Given the description of an element on the screen output the (x, y) to click on. 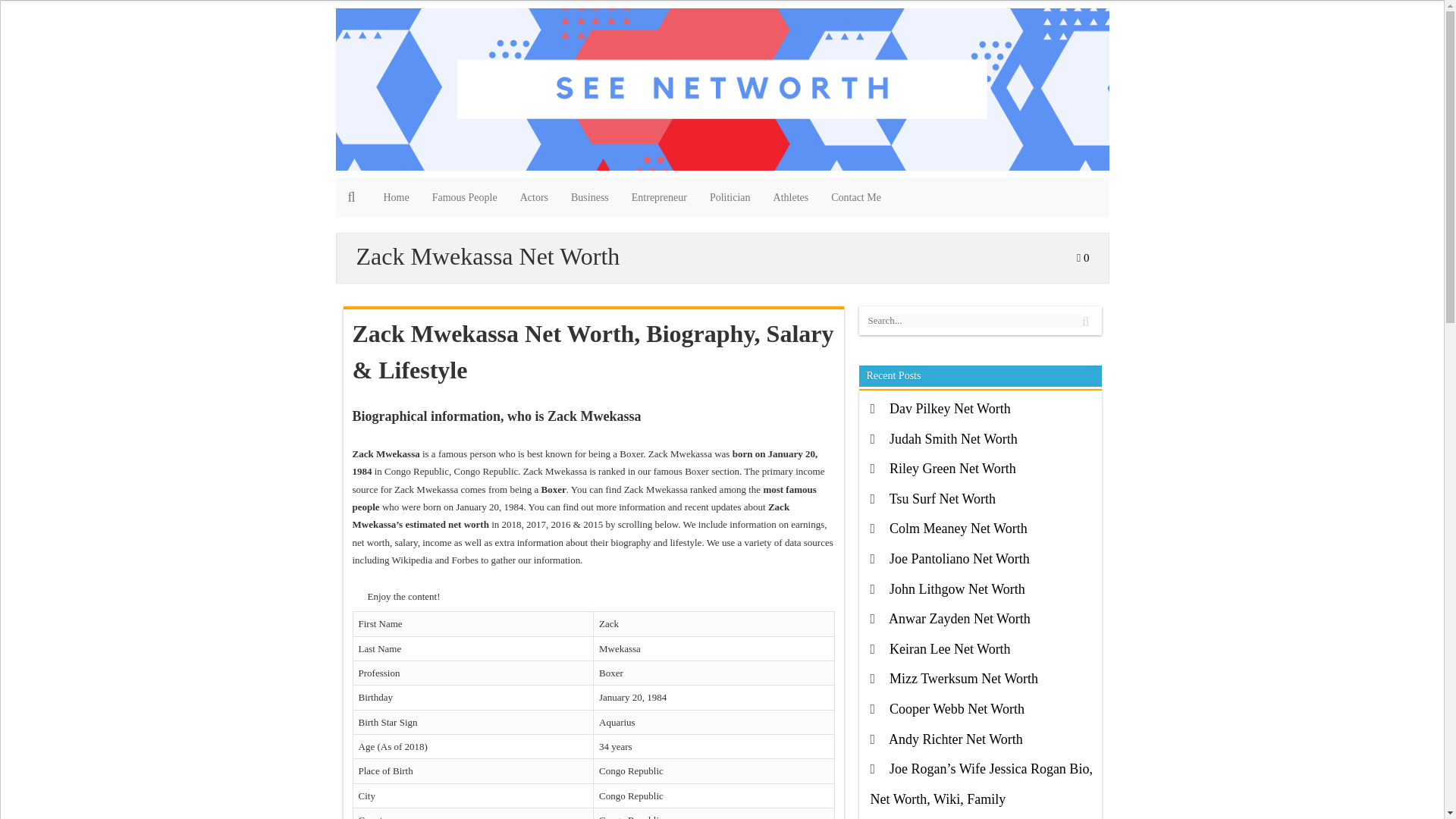
Business (589, 198)
Famous People (464, 198)
Andy Richter Net Worth (955, 739)
Entrepreneur (659, 198)
Cooper Webb Net Worth (957, 708)
Politician (729, 198)
John Lithgow Net Worth (957, 589)
Actors (533, 198)
Judah Smith Net Worth (953, 438)
Keiran Lee Net Worth (949, 648)
